Given the description of an element on the screen output the (x, y) to click on. 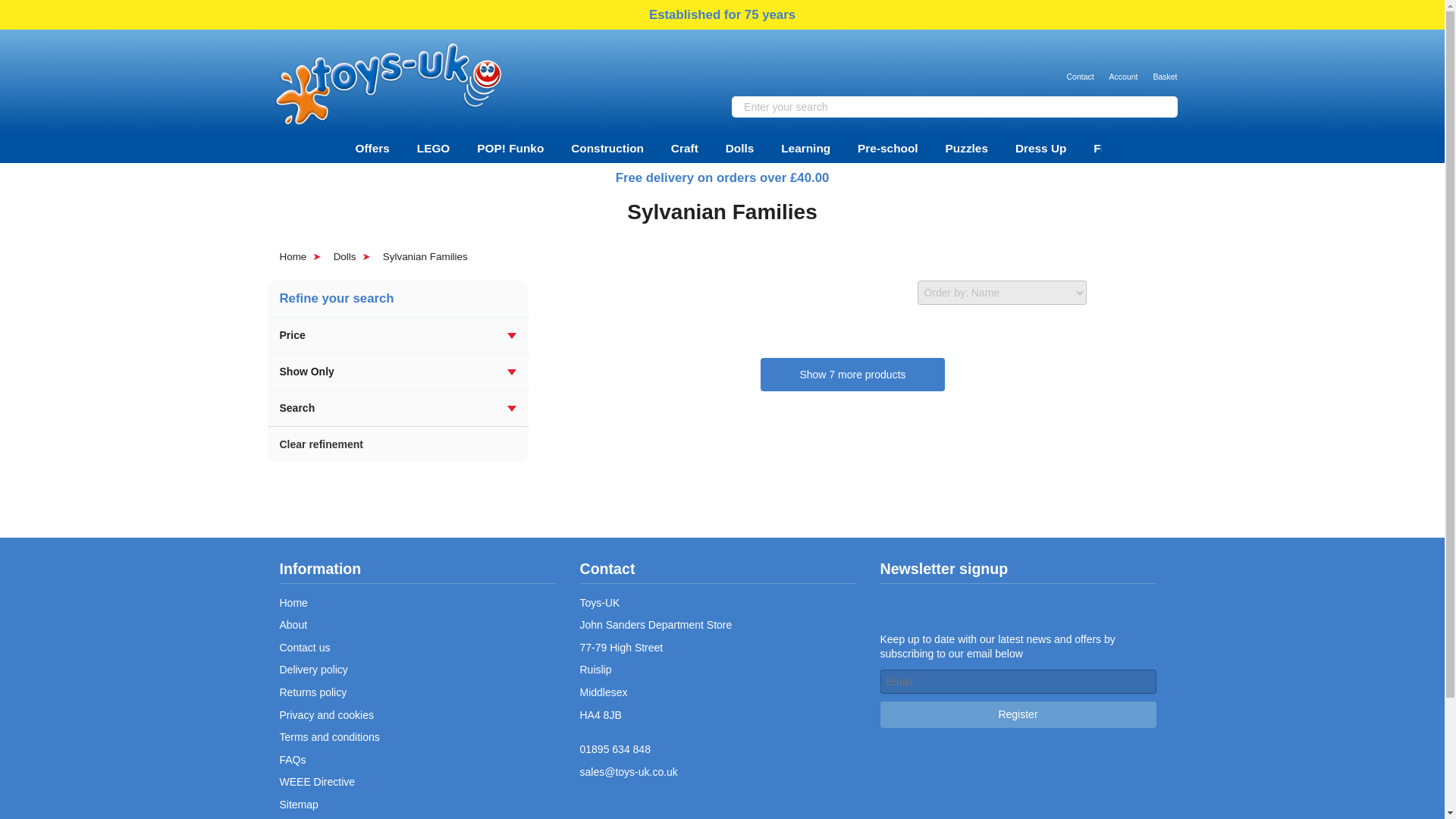
Search (1161, 106)
Established for 75 years (721, 15)
Account (1123, 66)
Contact (1079, 66)
Thumbnail view (1109, 292)
Offers (371, 147)
List view (1146, 292)
LEGO (433, 147)
Search (1161, 106)
